Given the description of an element on the screen output the (x, y) to click on. 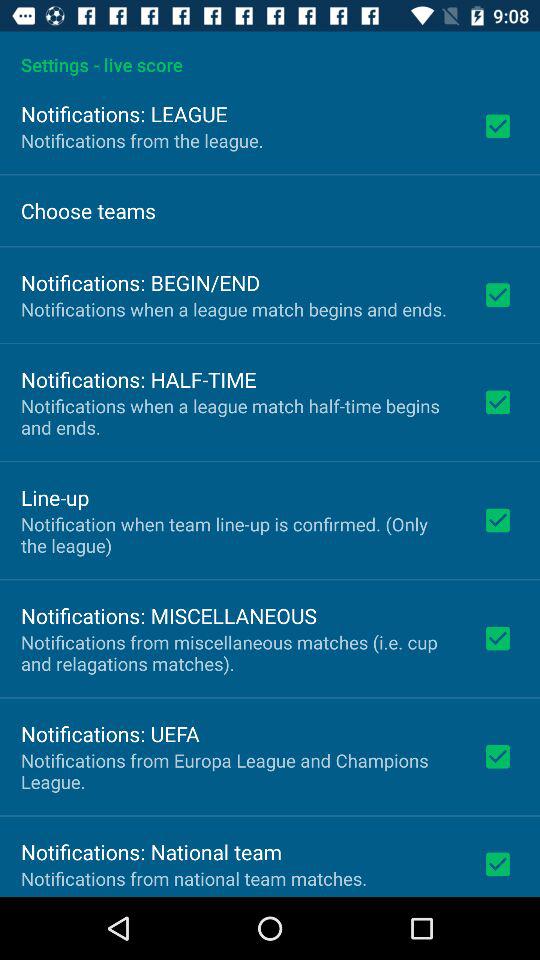
press the settings - live score icon (270, 54)
